Given the description of an element on the screen output the (x, y) to click on. 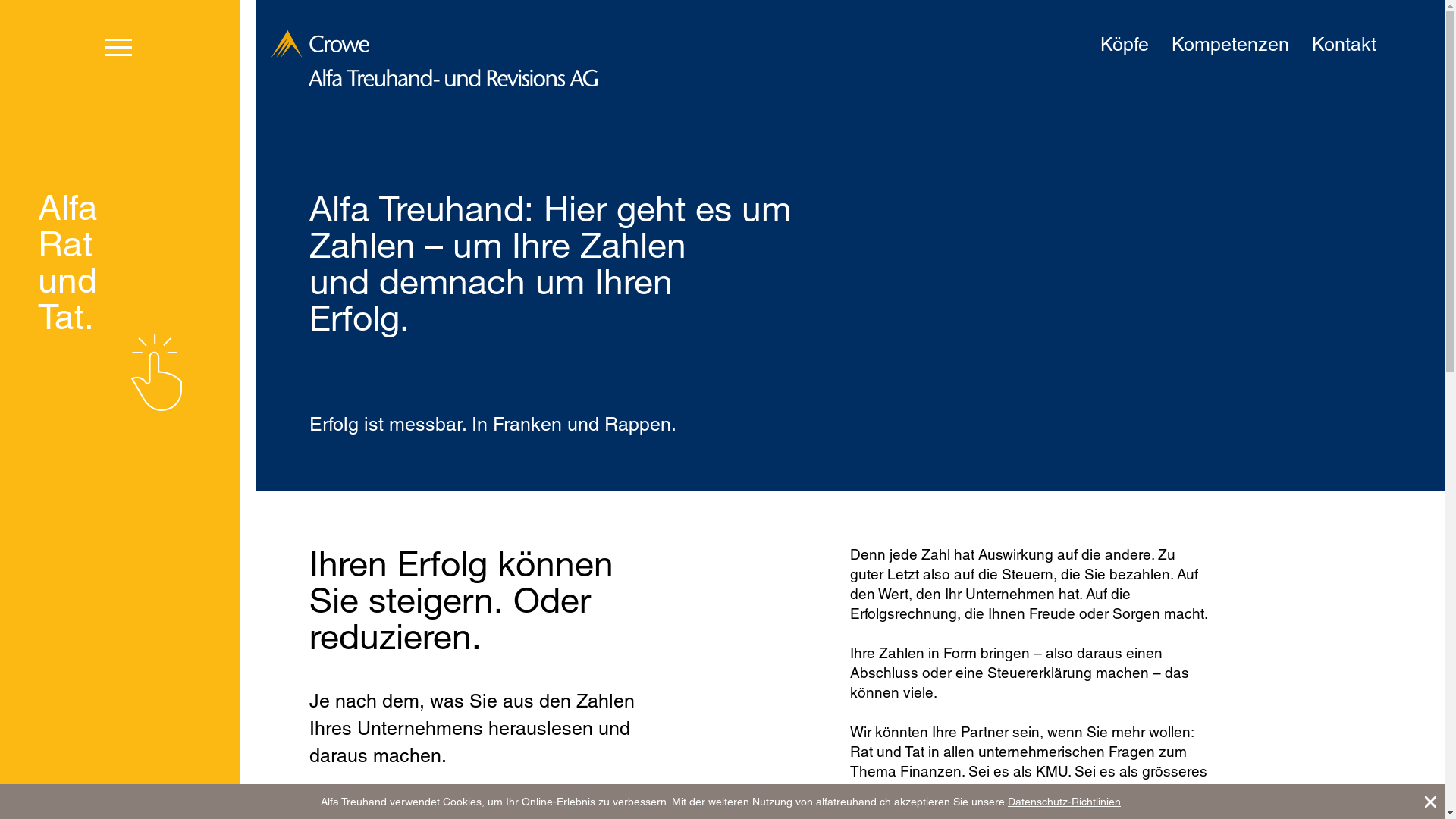
toggle menu Element type: text (117, 44)
Datenschutz-Richtlinien Element type: text (1063, 801)
Kompetenzen Element type: text (1230, 44)
